Given the description of an element on the screen output the (x, y) to click on. 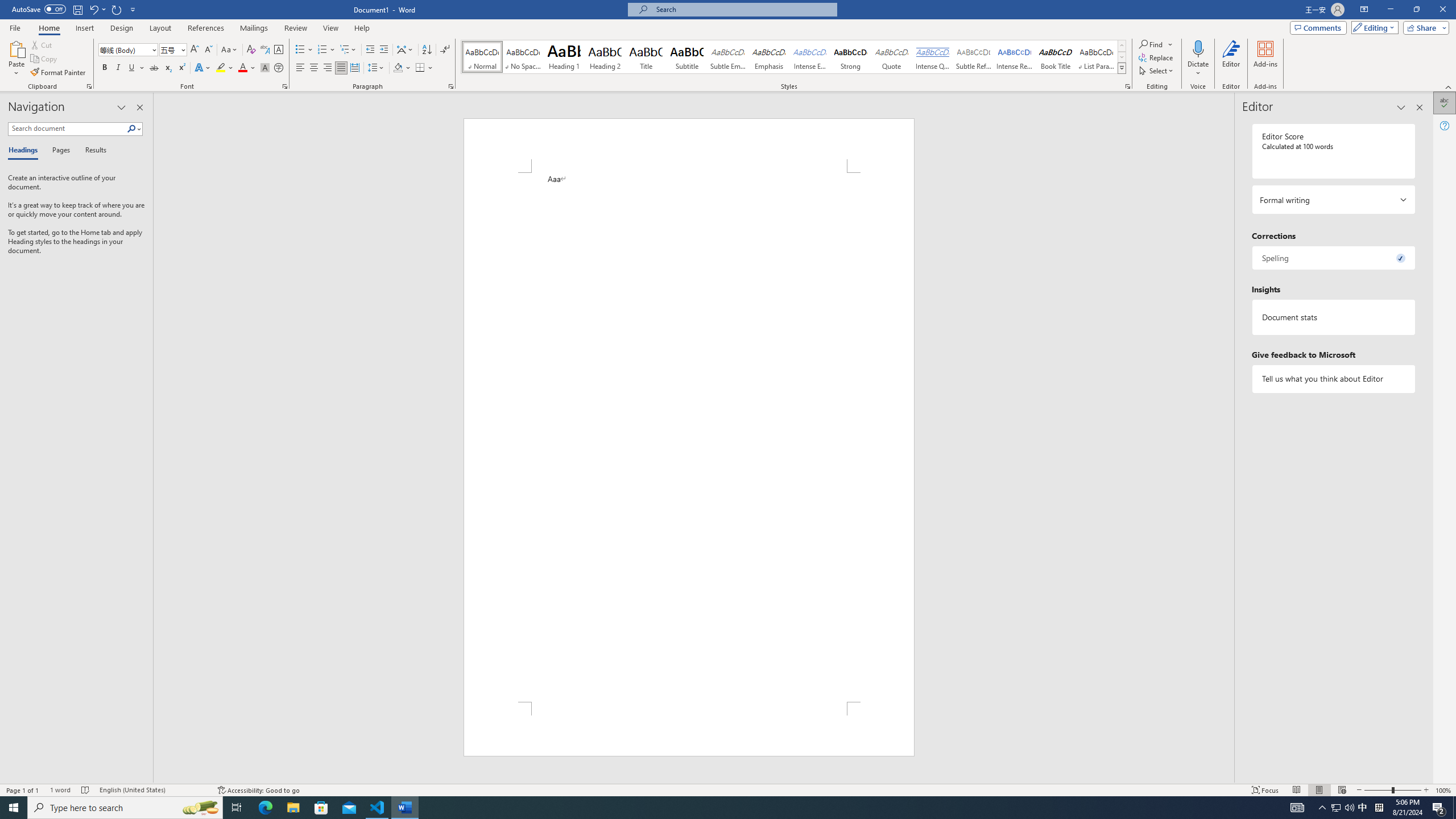
Cut (42, 44)
Grow Font (193, 49)
Character Border (278, 49)
Mode (1372, 27)
Spelling and Grammar Check No Errors (85, 790)
Class: MsoCommandBar (728, 789)
Increase Indent (383, 49)
